Given the description of an element on the screen output the (x, y) to click on. 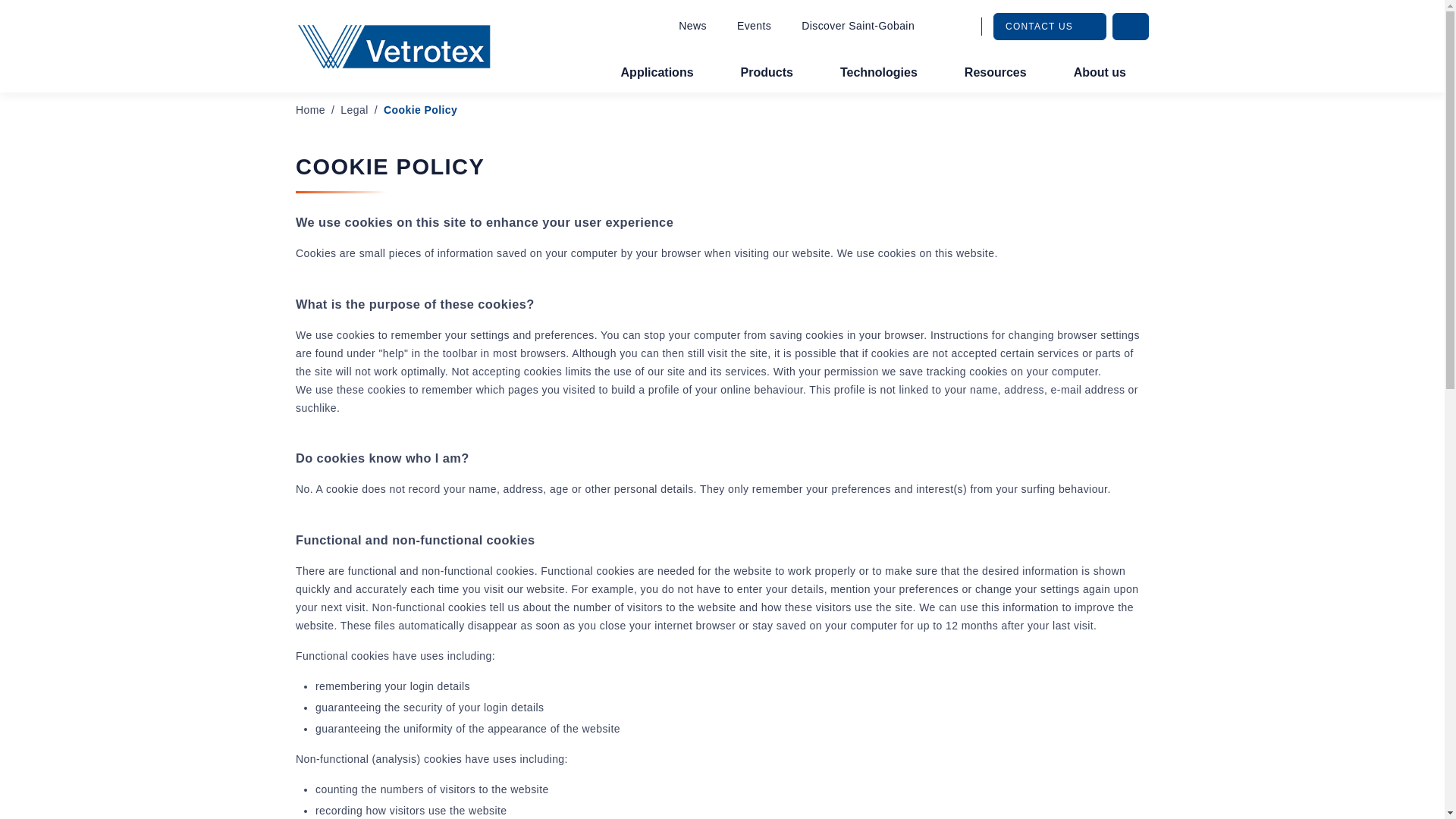
Discover Saint-Gobain (858, 26)
Events (753, 26)
News (692, 26)
